Given the description of an element on the screen output the (x, y) to click on. 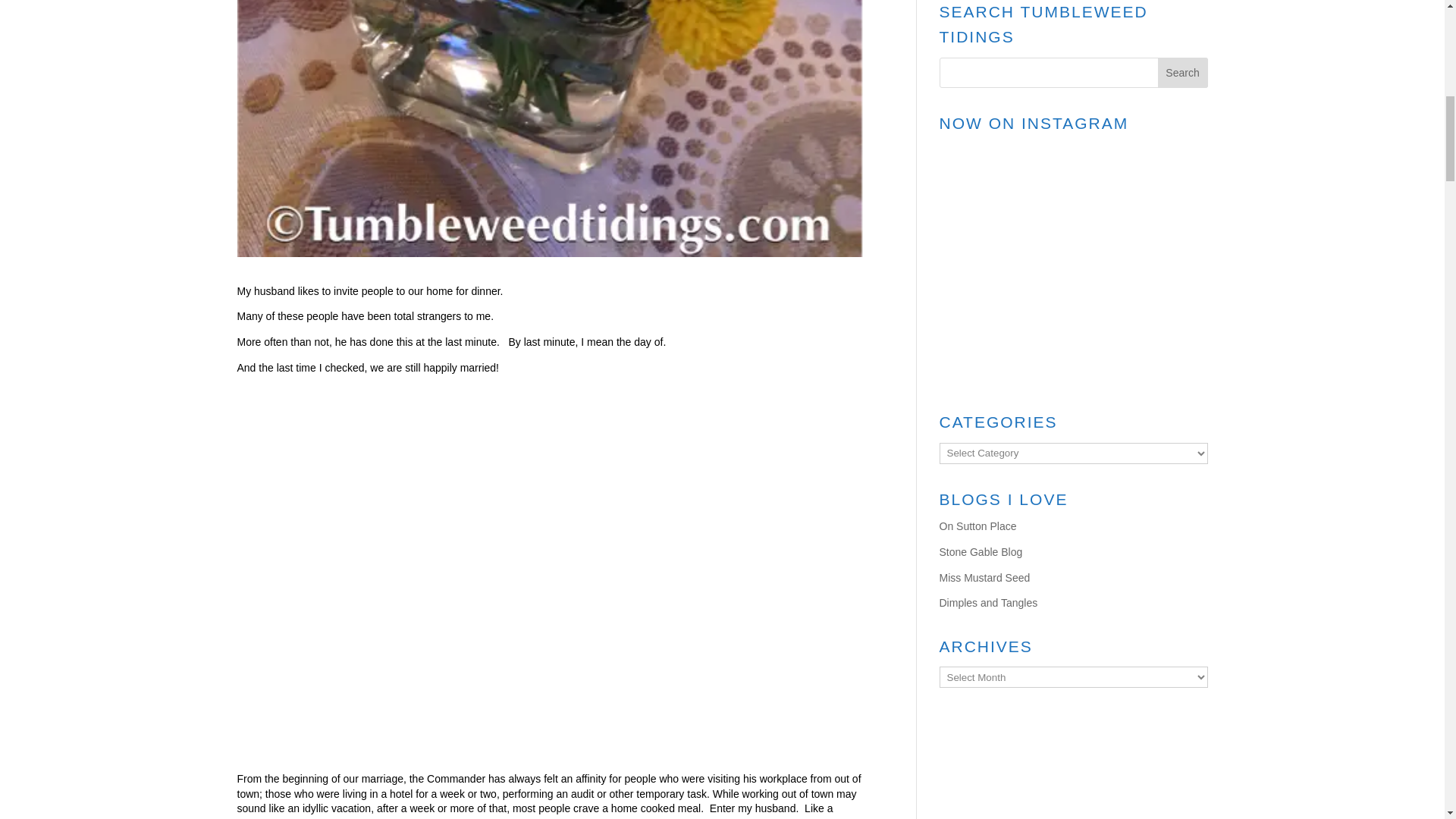
Search (1182, 72)
Dimples and Tangles (987, 603)
Search (1182, 72)
Stone Gable Blog (980, 551)
Miss Mustard Seed (984, 577)
On Sutton Place (977, 526)
